Given the description of an element on the screen output the (x, y) to click on. 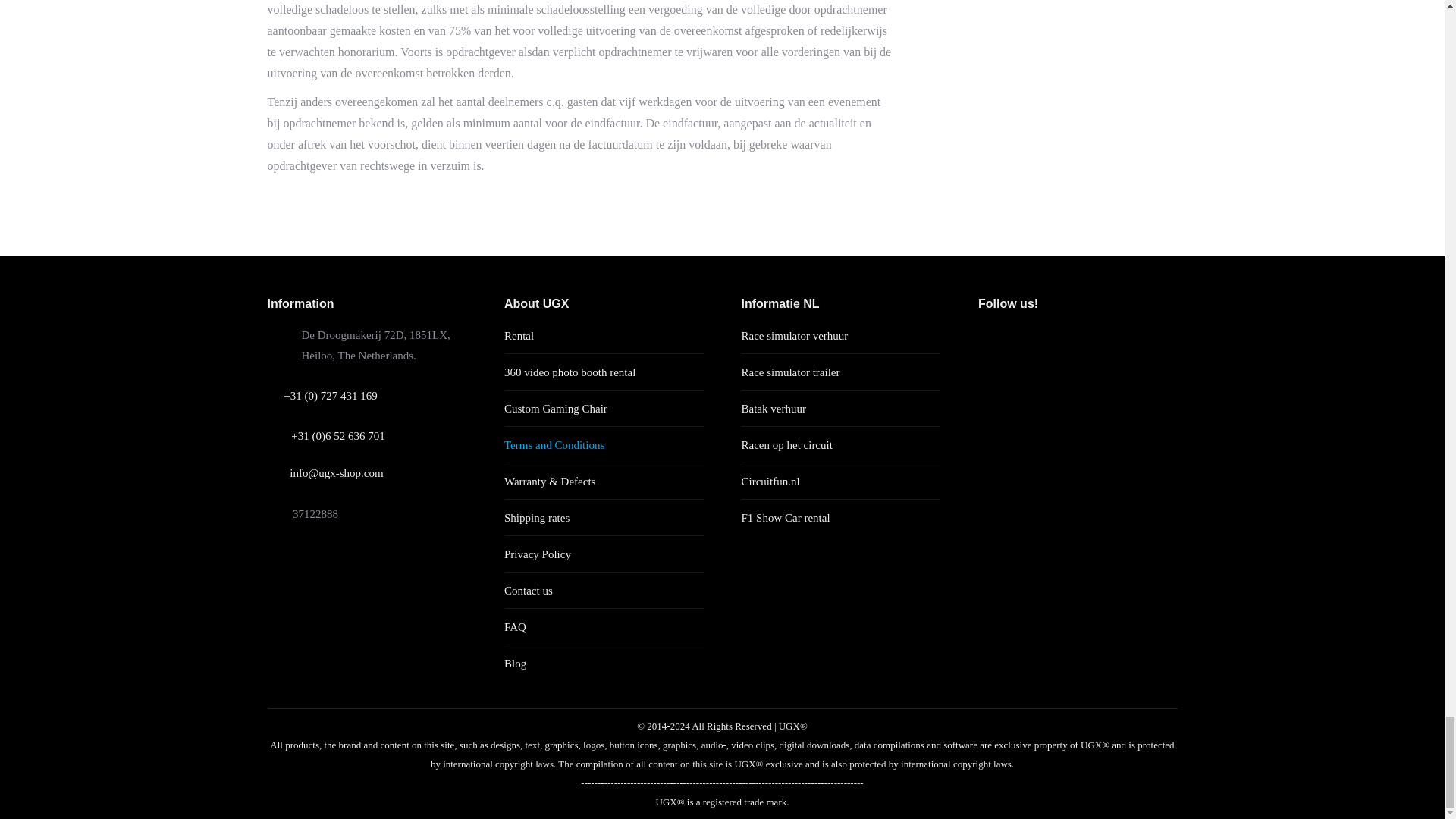
Rental (518, 335)
360 video photo booth rental (568, 372)
Terms and Conditions (553, 444)
Shipping rates (536, 517)
Custom Gaming Chair (555, 408)
